Given the description of an element on the screen output the (x, y) to click on. 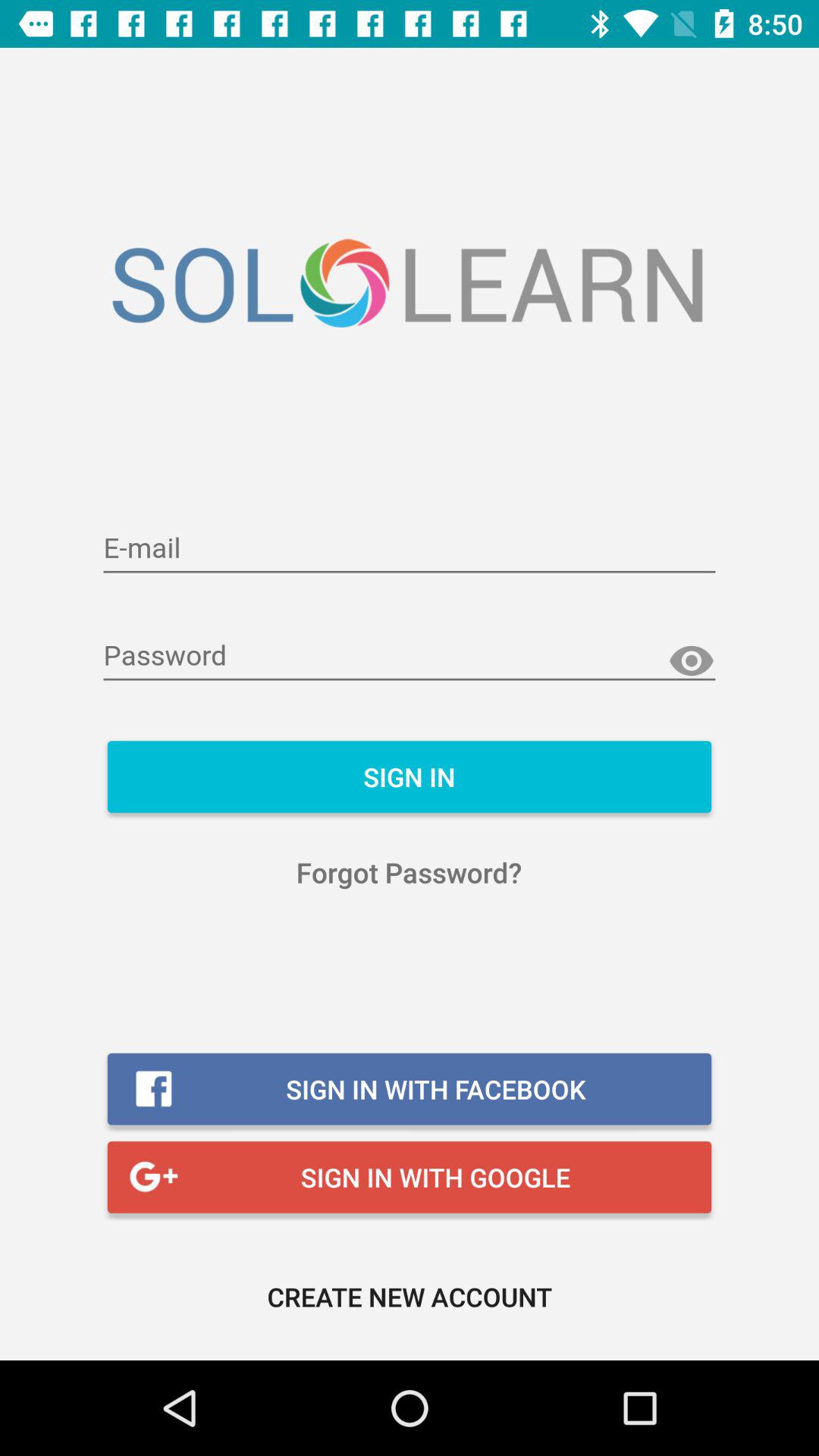
select the forgot password? (409, 872)
